Given the description of an element on the screen output the (x, y) to click on. 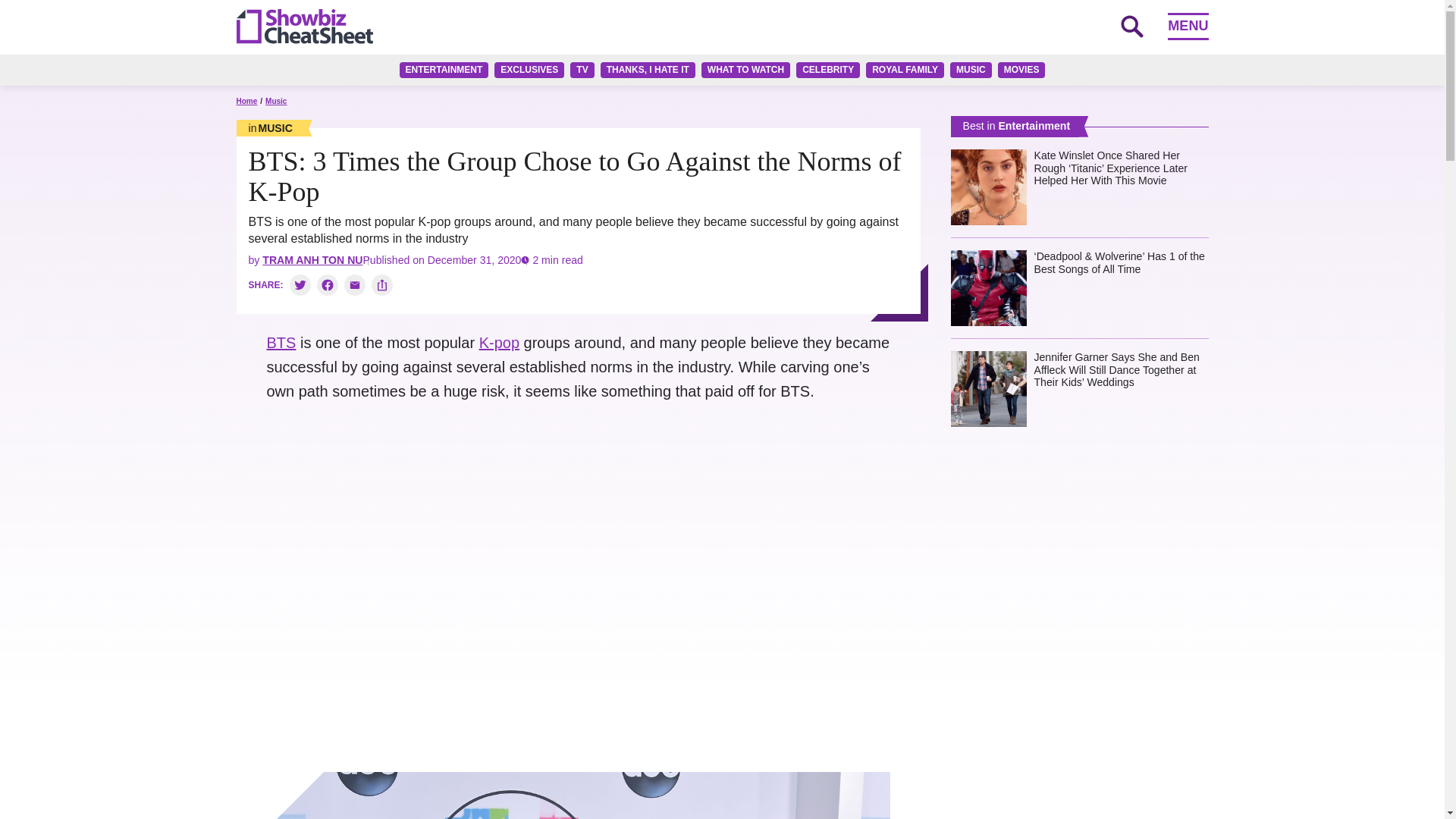
Copy link and share:  (382, 284)
Copy link (382, 284)
Home (246, 101)
BTS (281, 342)
ENTERTAINMENT (443, 69)
Share on Facebook: (327, 284)
MUSIC (970, 69)
WHAT TO WATCH (745, 69)
Music (269, 127)
THANKS, I HATE IT (647, 69)
